Given the description of an element on the screen output the (x, y) to click on. 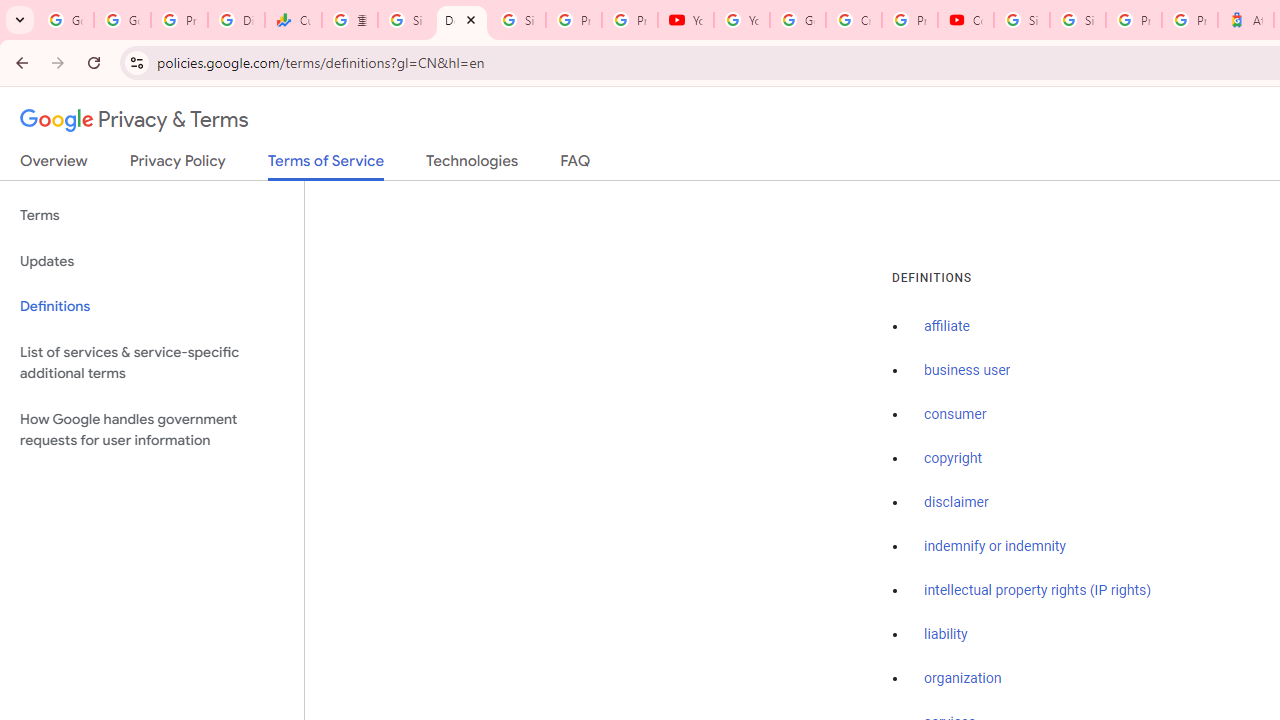
affiliate (947, 327)
Content Creator Programs & Opportunities - YouTube Creators (966, 20)
Sign in - Google Accounts (405, 20)
indemnify or indemnity (995, 546)
liability (945, 634)
disclaimer (956, 502)
